Given the description of an element on the screen output the (x, y) to click on. 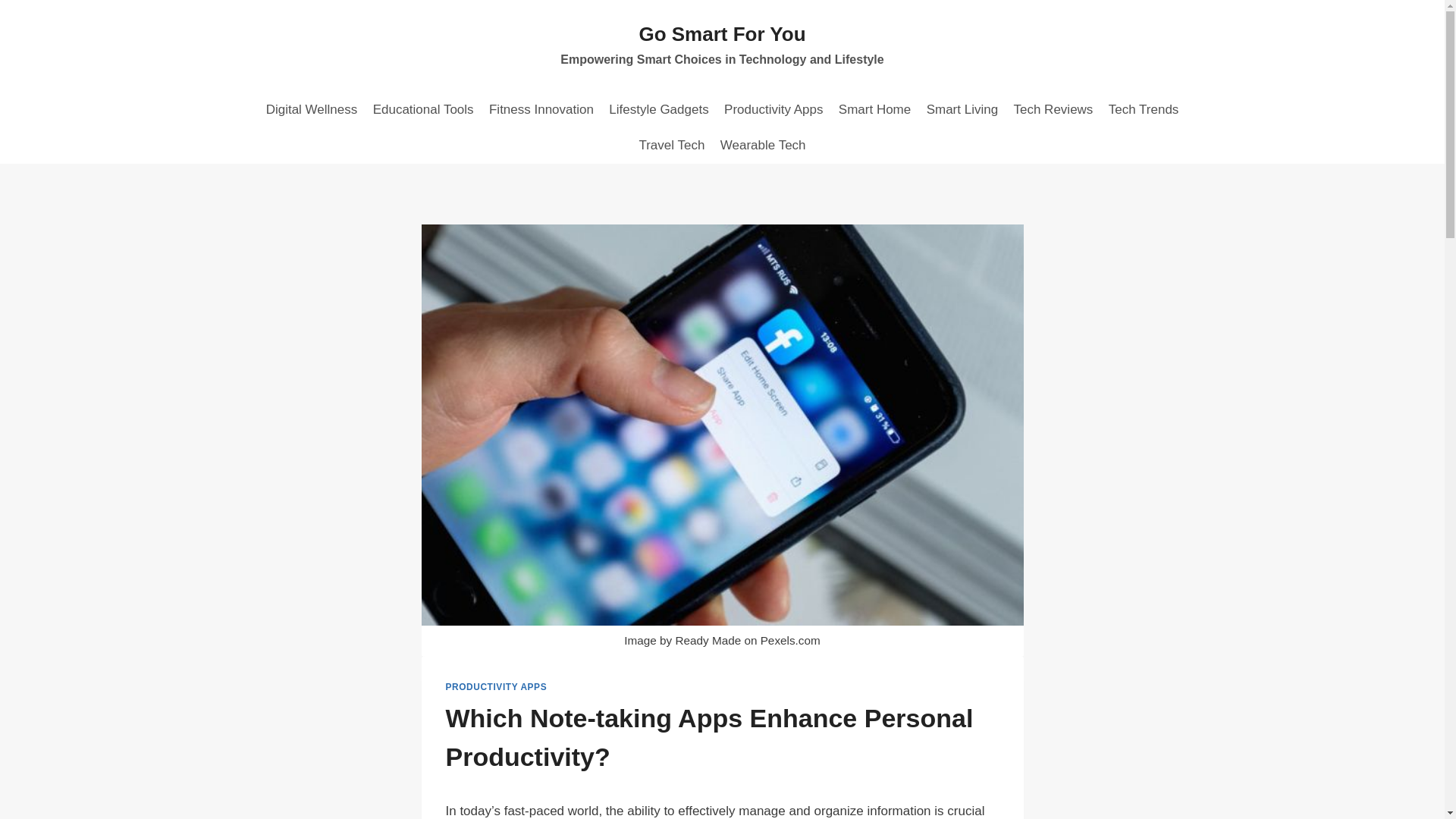
Educational Tools (422, 109)
Travel Tech (670, 145)
Smart Home (874, 109)
Productivity Apps (773, 109)
Fitness Innovation (541, 109)
Wearable Tech (763, 145)
Lifestyle Gadgets (658, 109)
PRODUCTIVITY APPS (496, 686)
Digital Wellness (311, 109)
